Given the description of an element on the screen output the (x, y) to click on. 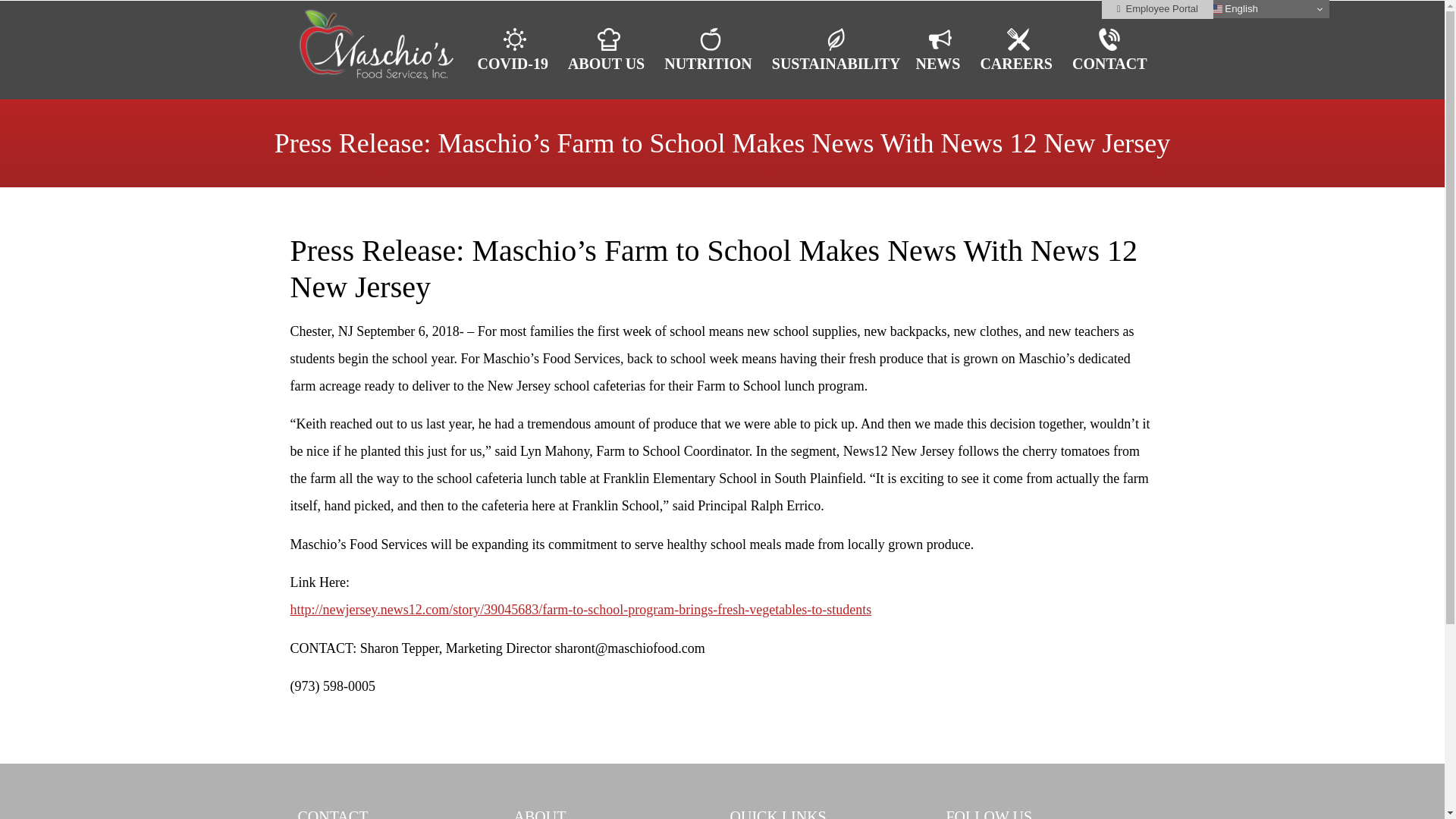
NUTRITION (710, 49)
SUSTAINABILITY (836, 49)
ABOUT US (608, 49)
COVID-19 (515, 49)
CONTACT (1109, 49)
Employee Portal (1157, 9)
CAREERS (1018, 49)
